Given the description of an element on the screen output the (x, y) to click on. 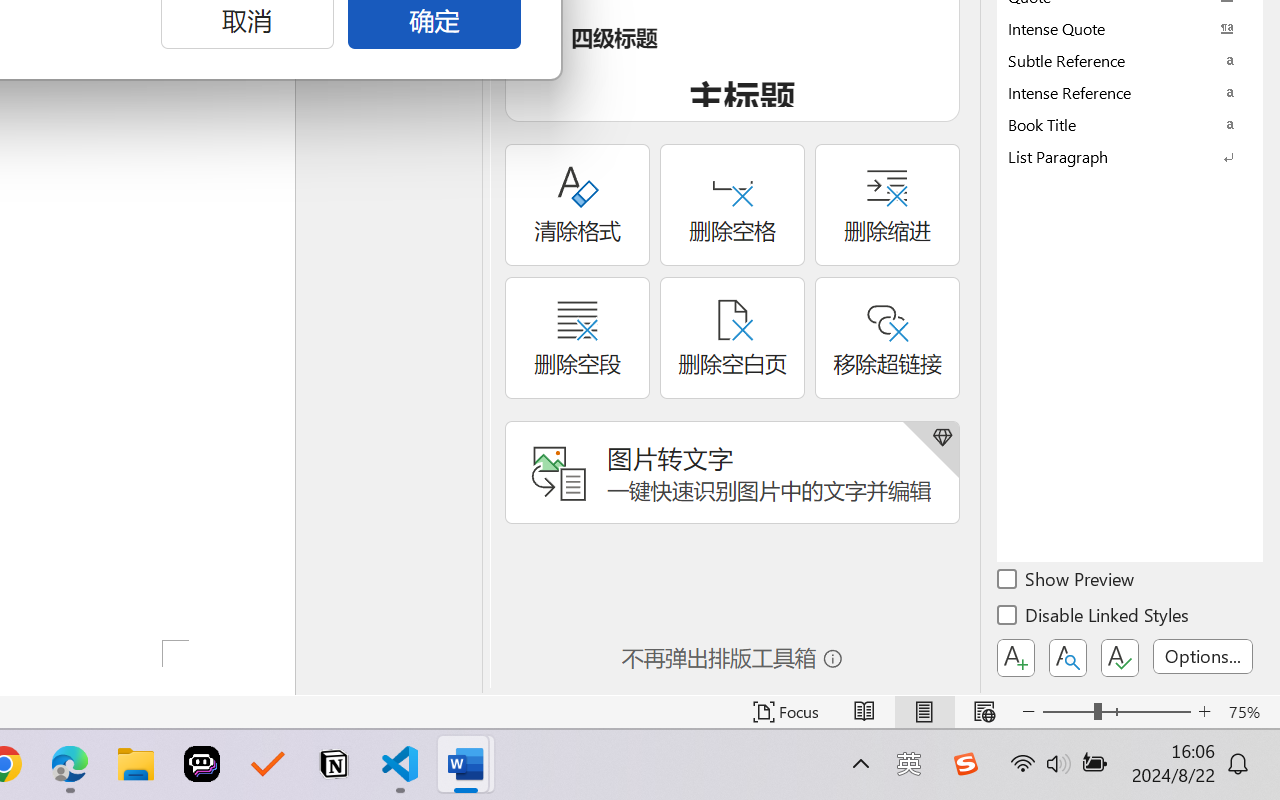
Read Mode (864, 712)
Subtle Reference (1130, 60)
Class: Image (965, 764)
Poe (201, 764)
Focus  (786, 712)
Book Title (1130, 124)
Zoom Out (1067, 712)
Notion (333, 764)
Class: NetUIImage (1116, 156)
